Given the description of an element on the screen output the (x, y) to click on. 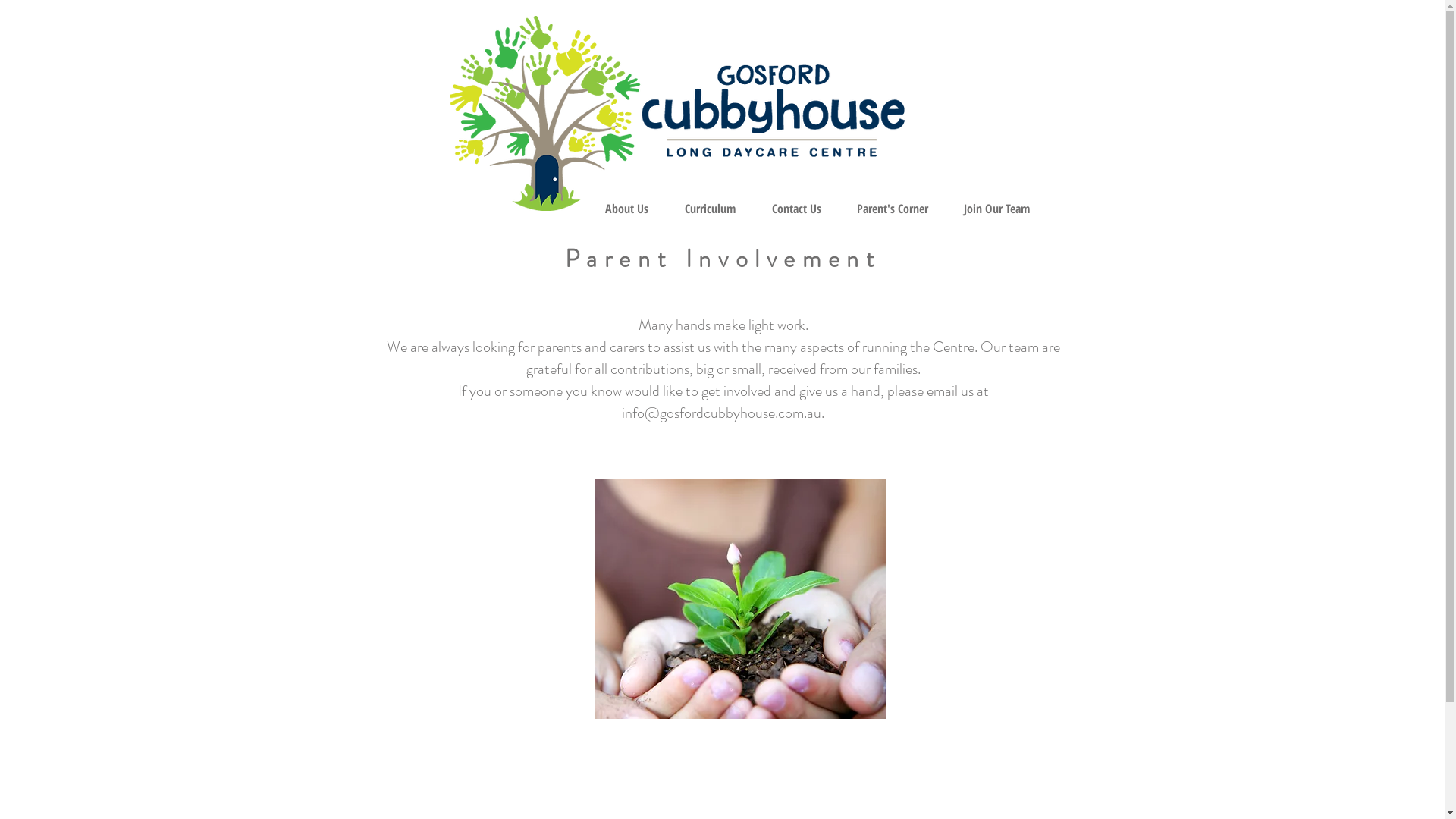
info@gosfordcubbyhouse.com.au Element type: text (721, 412)
About Us Element type: text (626, 208)
Transplant  Element type: hover (739, 598)
Curriculum Element type: text (709, 208)
Contact Us Element type: text (796, 208)
